Given the description of an element on the screen output the (x, y) to click on. 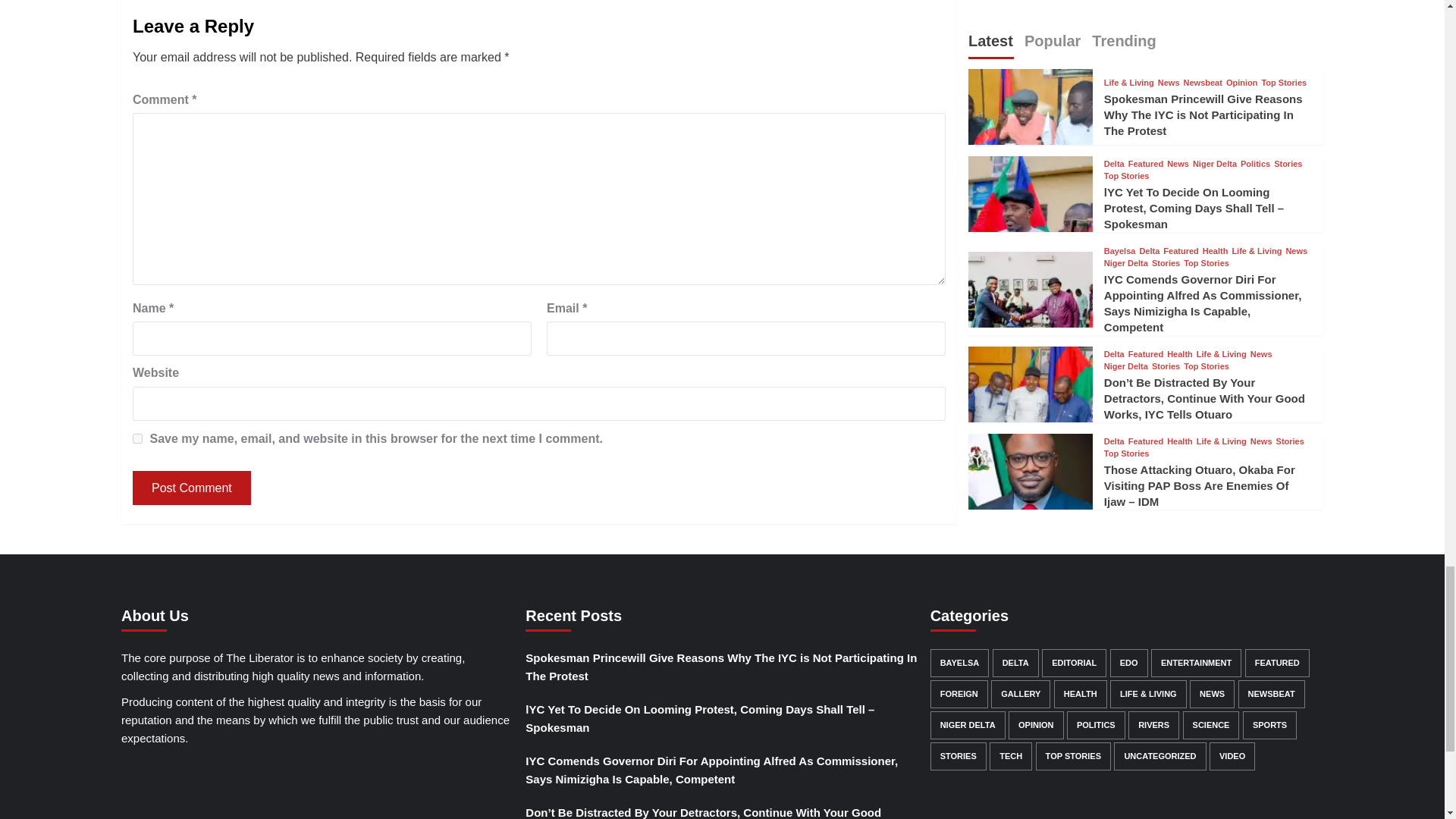
yes (137, 438)
Post Comment (191, 487)
